Given the description of an element on the screen output the (x, y) to click on. 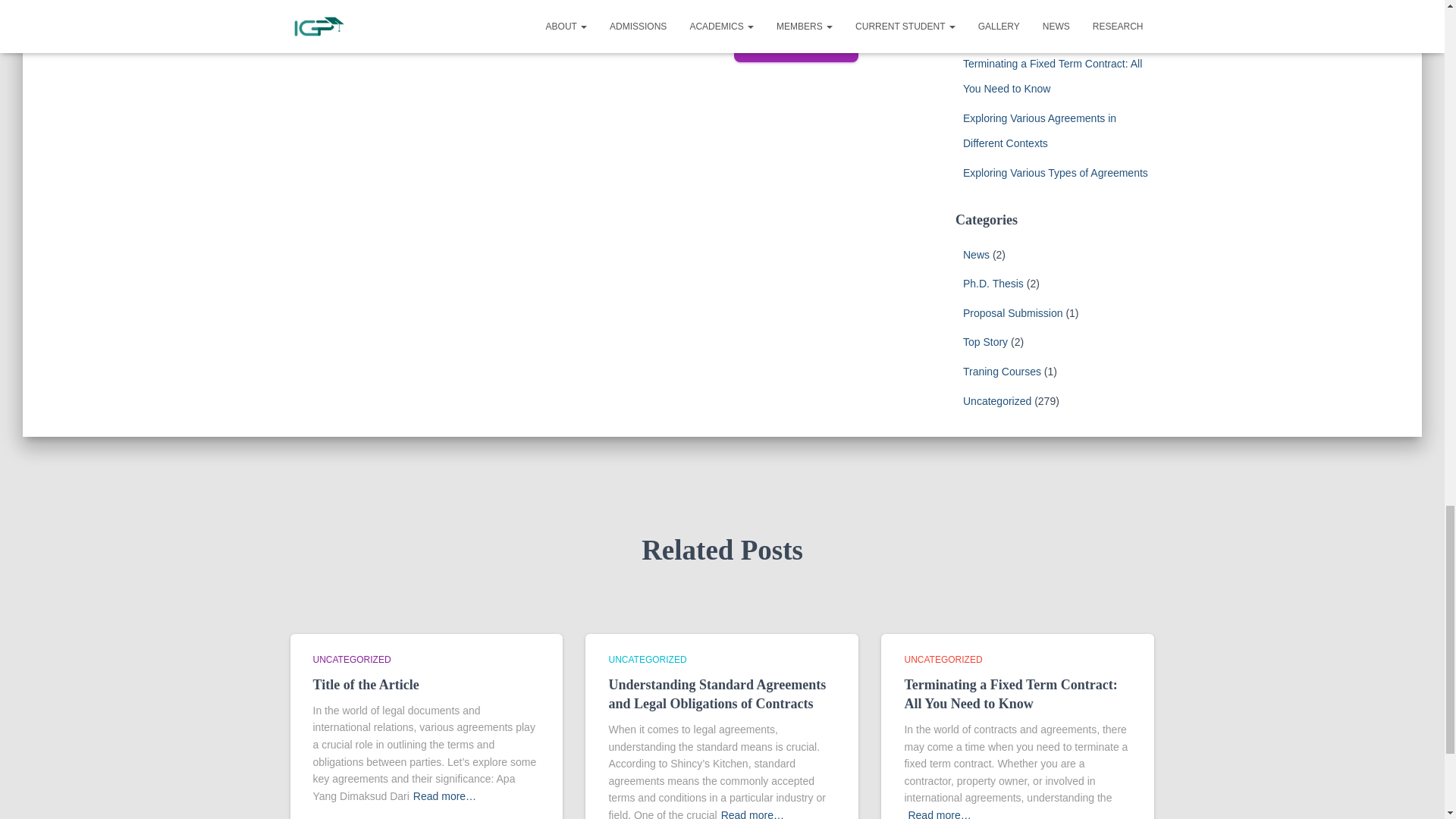
Post Comment (796, 44)
Post Comment (796, 44)
